Given the description of an element on the screen output the (x, y) to click on. 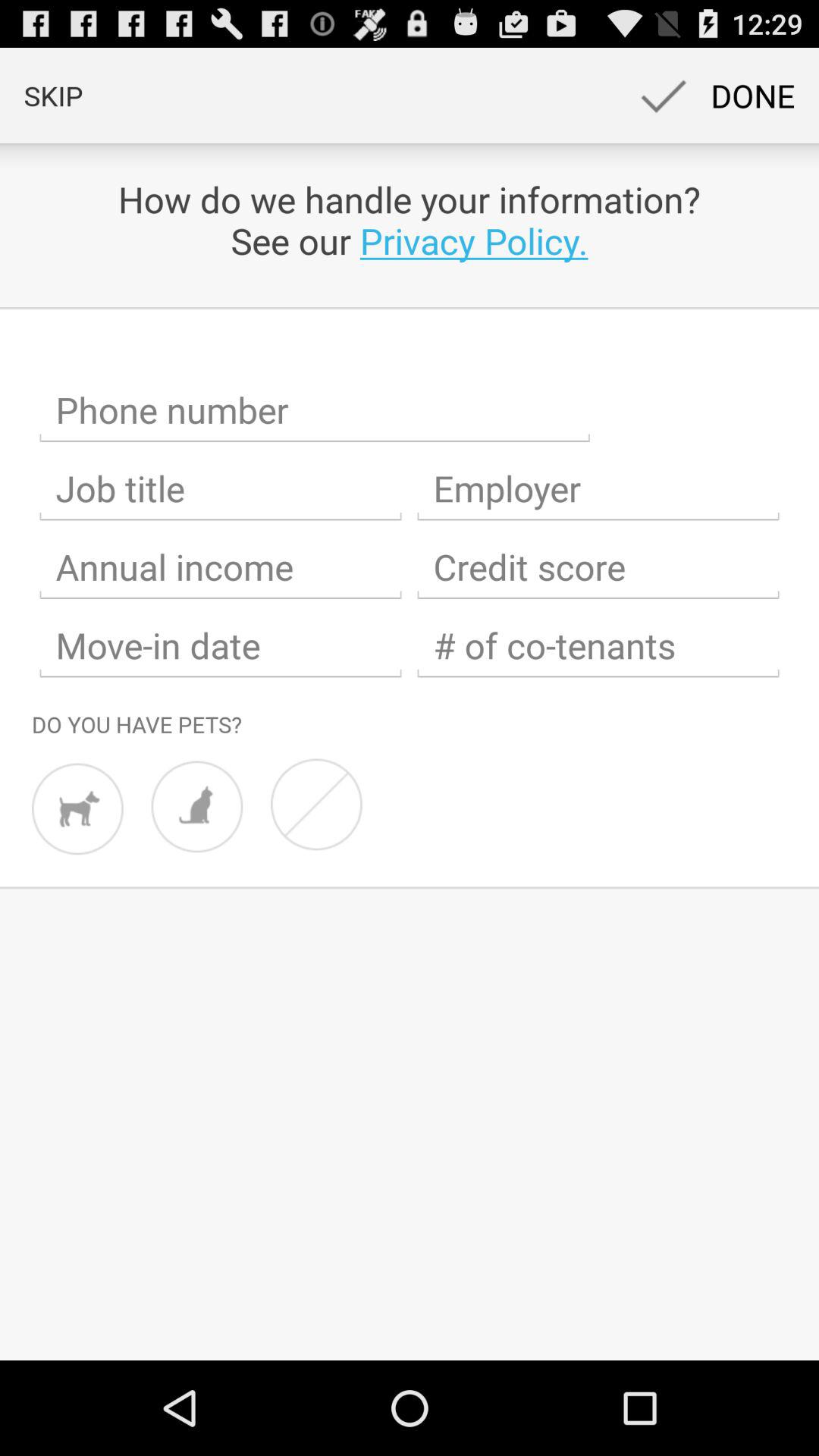
move in date (220, 645)
